Given the description of an element on the screen output the (x, y) to click on. 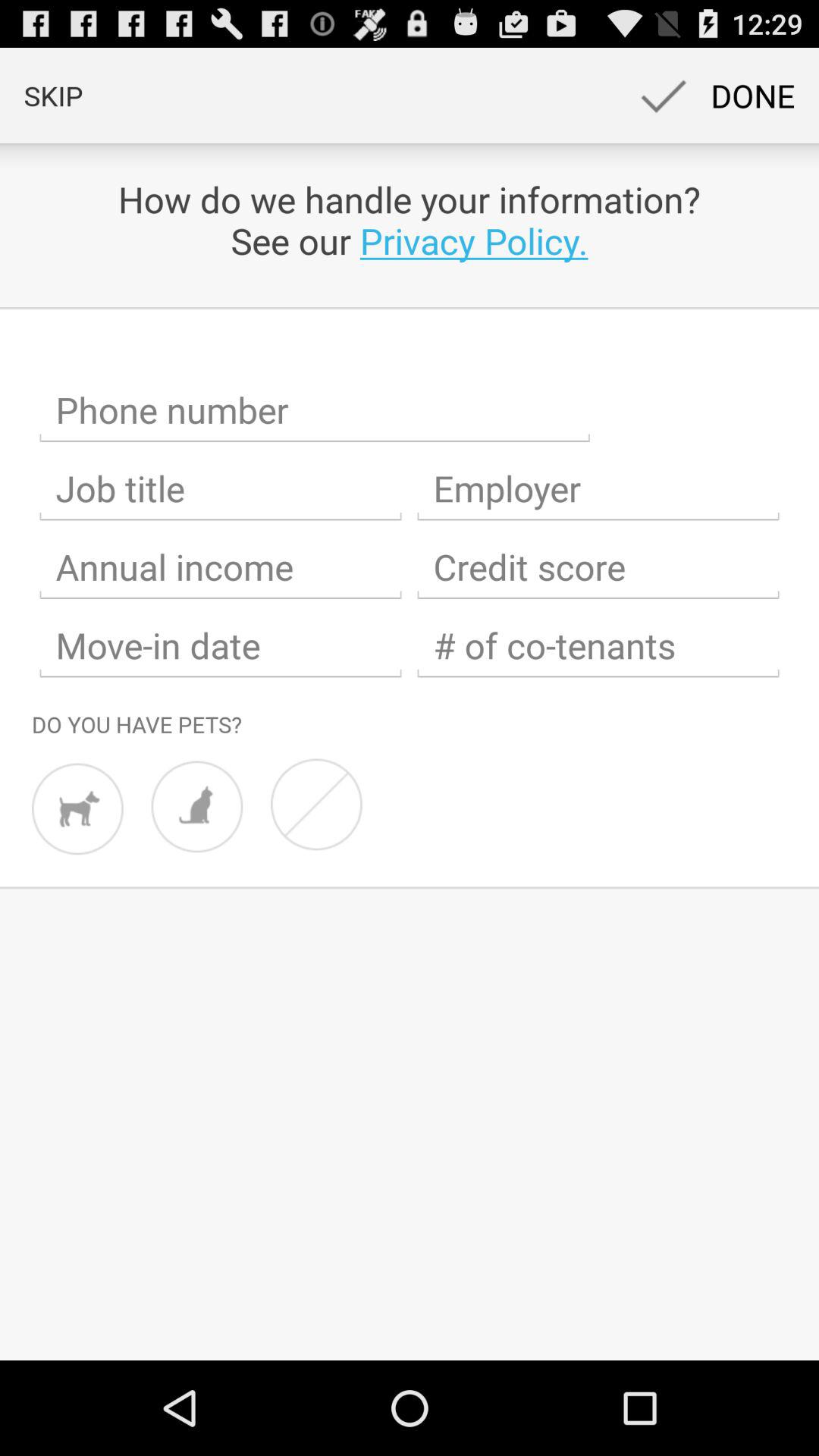
move in date (220, 645)
